Given the description of an element on the screen output the (x, y) to click on. 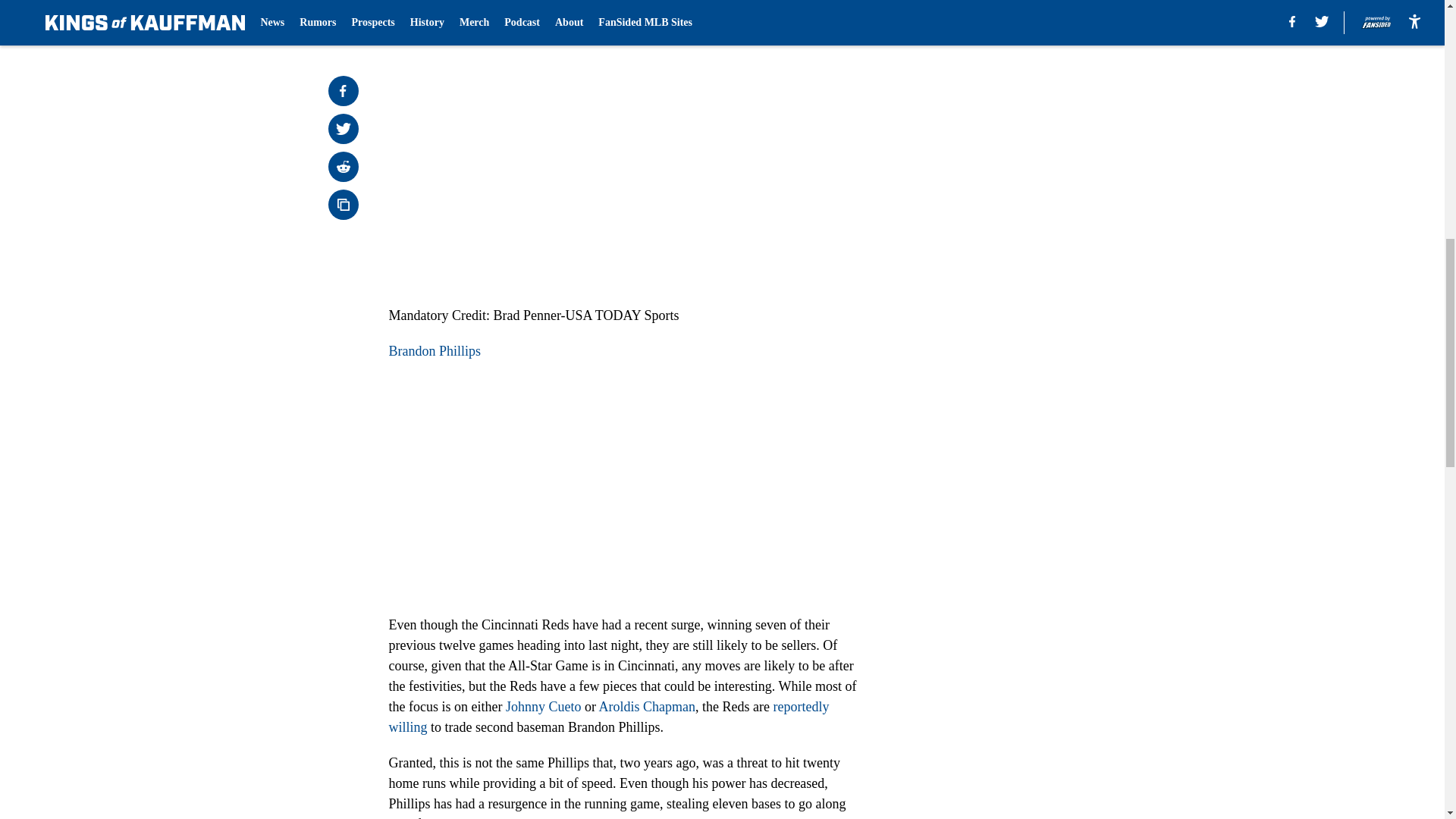
Next (813, 5)
reportedly willing (608, 716)
Johnny Cueto (542, 706)
Aroldis Chapman (646, 706)
Prev (433, 5)
Brandon Phillips (434, 350)
